Given the description of an element on the screen output the (x, y) to click on. 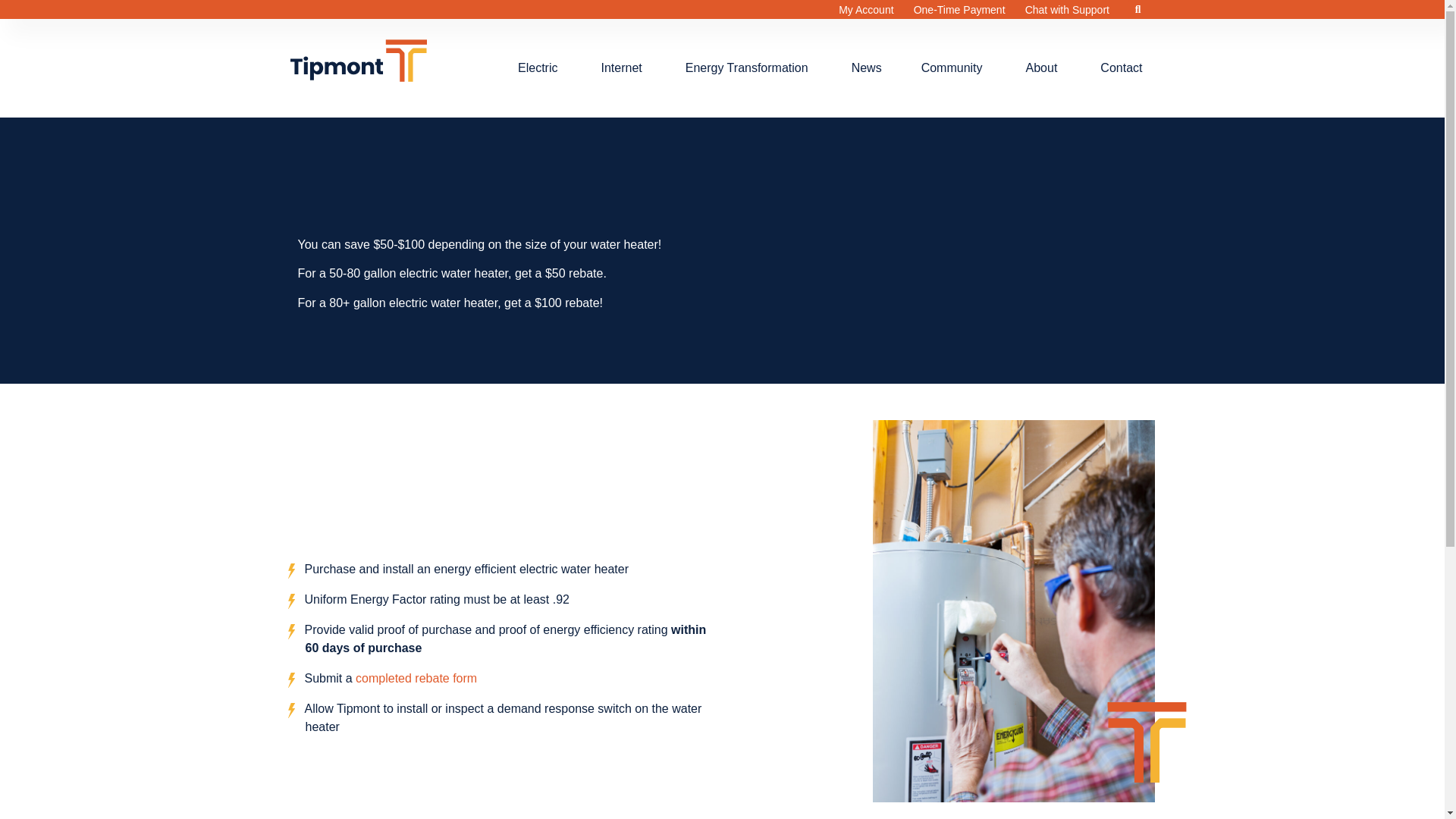
Chat with Support (1067, 9)
My Account (867, 9)
One-Time Payment (961, 9)
